Given the description of an element on the screen output the (x, y) to click on. 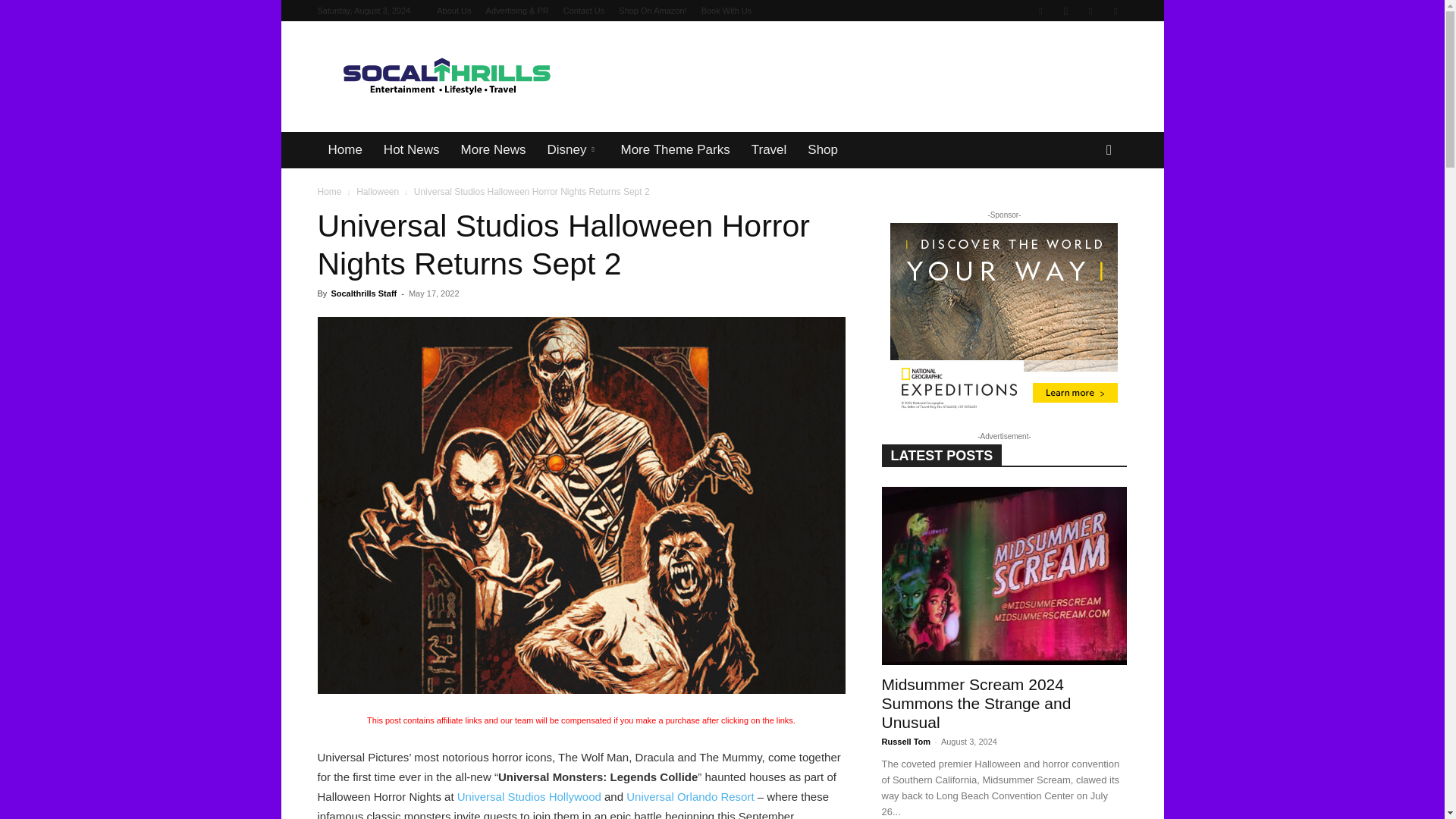
Socalthrills Logo (445, 76)
Pinterest (1090, 10)
Book With Us (726, 10)
Home (344, 149)
View all posts in Halloween (377, 191)
Contact Us (583, 10)
Instagram (1065, 10)
Hot News (410, 149)
Youtube (1114, 10)
Facebook (1040, 10)
